Given the description of an element on the screen output the (x, y) to click on. 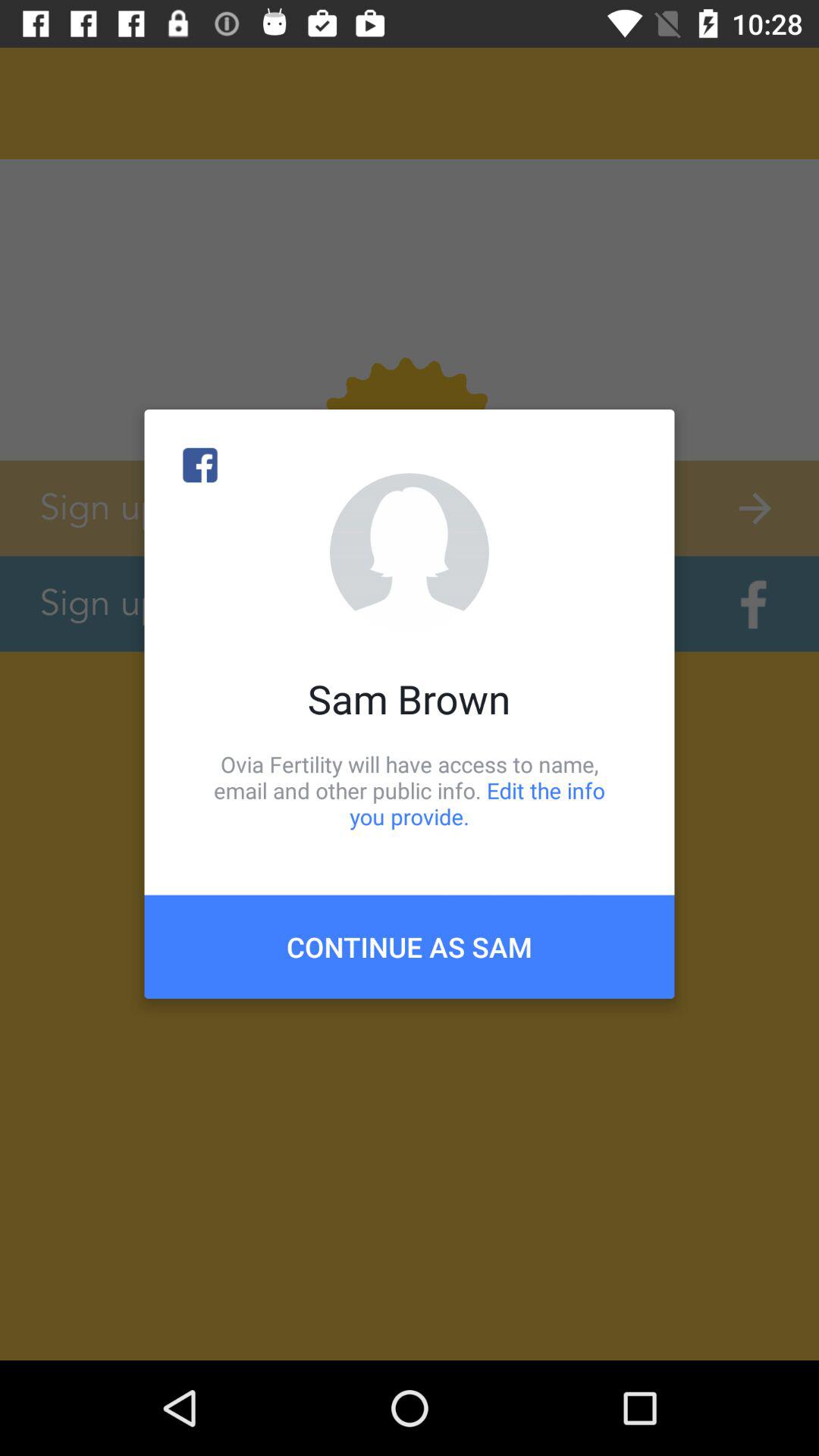
scroll until ovia fertility will item (409, 790)
